Given the description of an element on the screen output the (x, y) to click on. 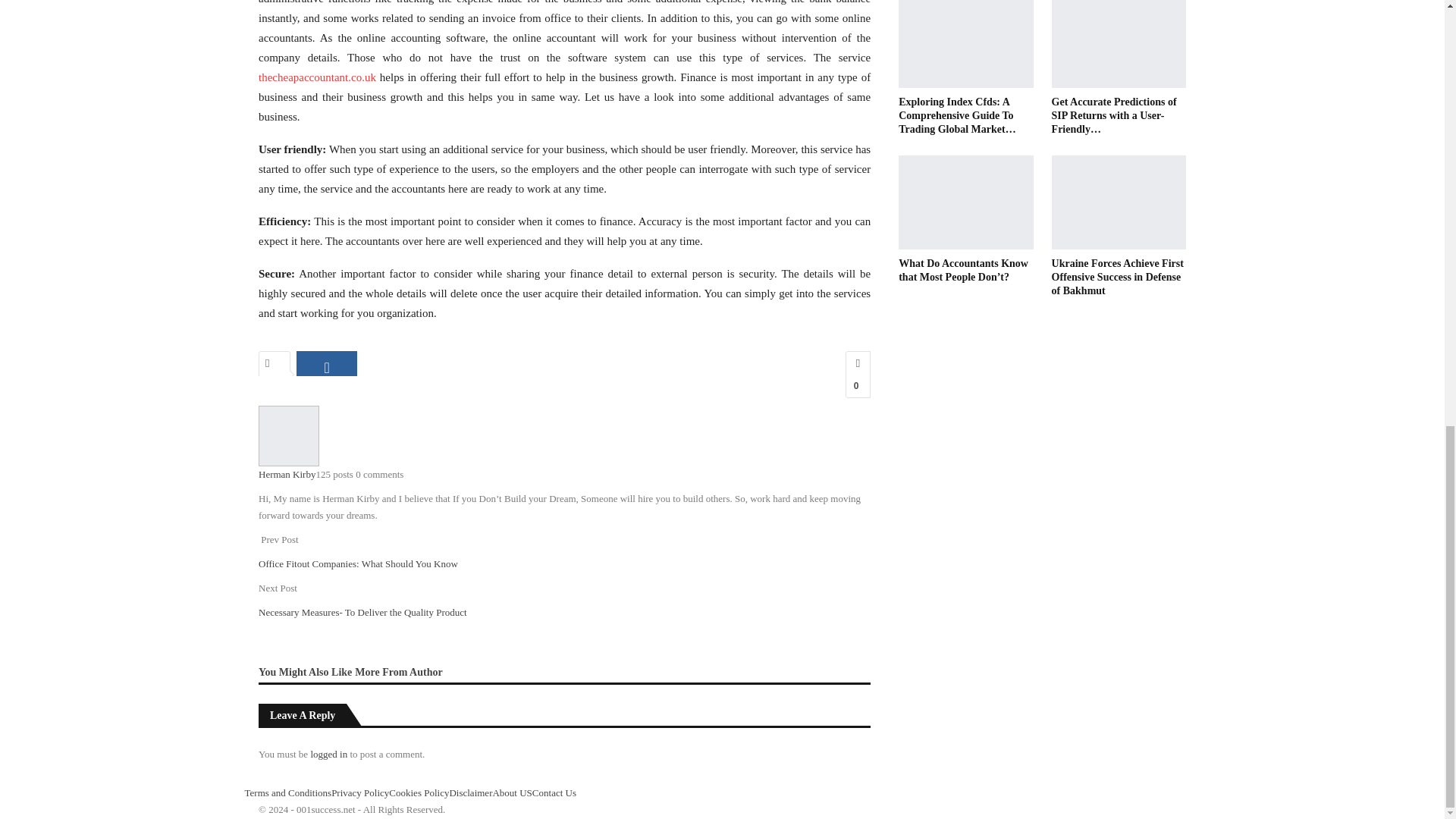
Browse Author Articles (288, 434)
You Might Also Like (307, 671)
Necessary Measures- To Deliver the Quality Product (363, 612)
Office Fitout Companies: What Should You Know (358, 563)
thecheapaccountant.co.uk (317, 77)
Herman Kirby (287, 473)
More From Author (398, 671)
